Given the description of an element on the screen output the (x, y) to click on. 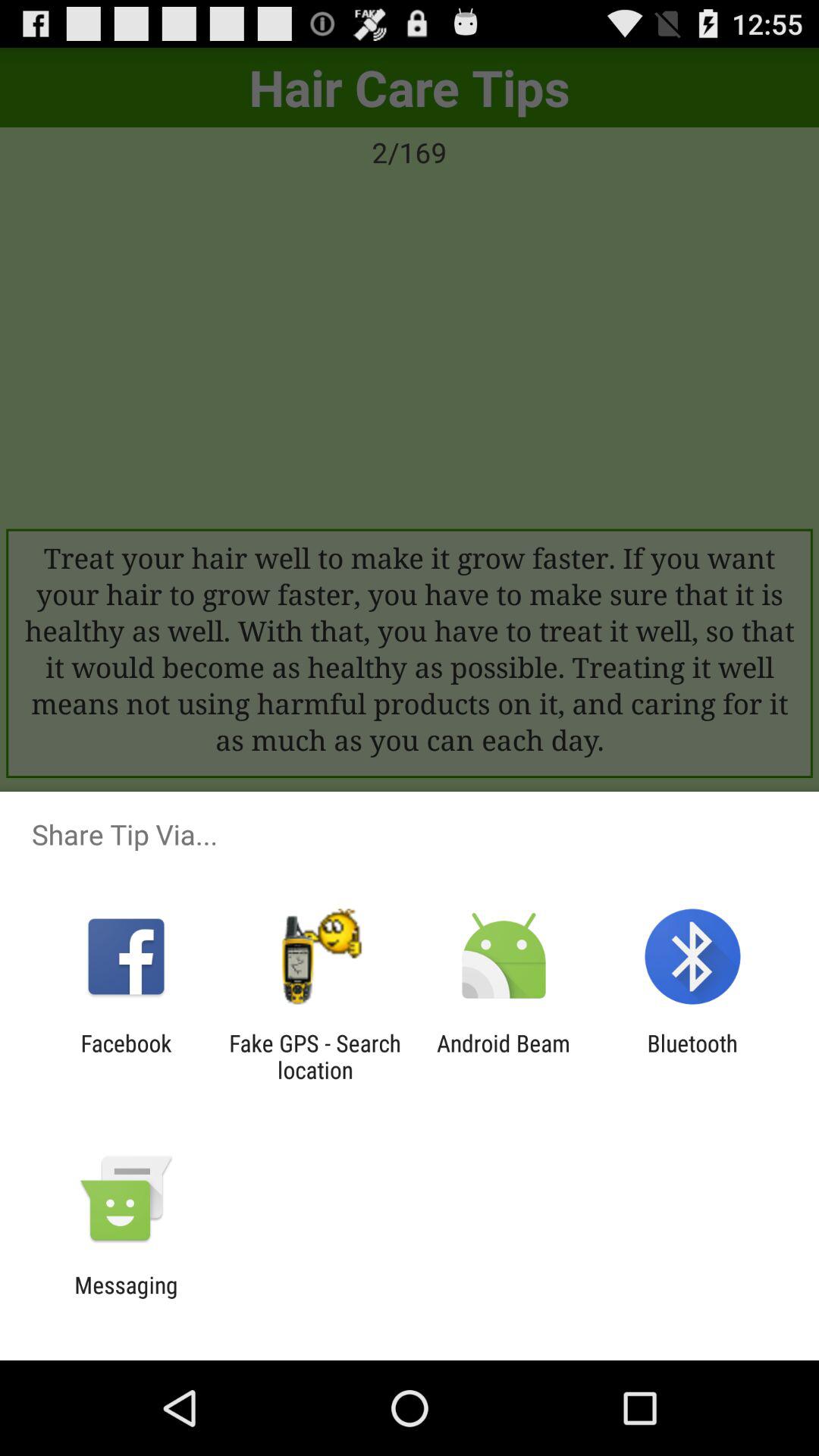
click android beam app (503, 1056)
